Given the description of an element on the screen output the (x, y) to click on. 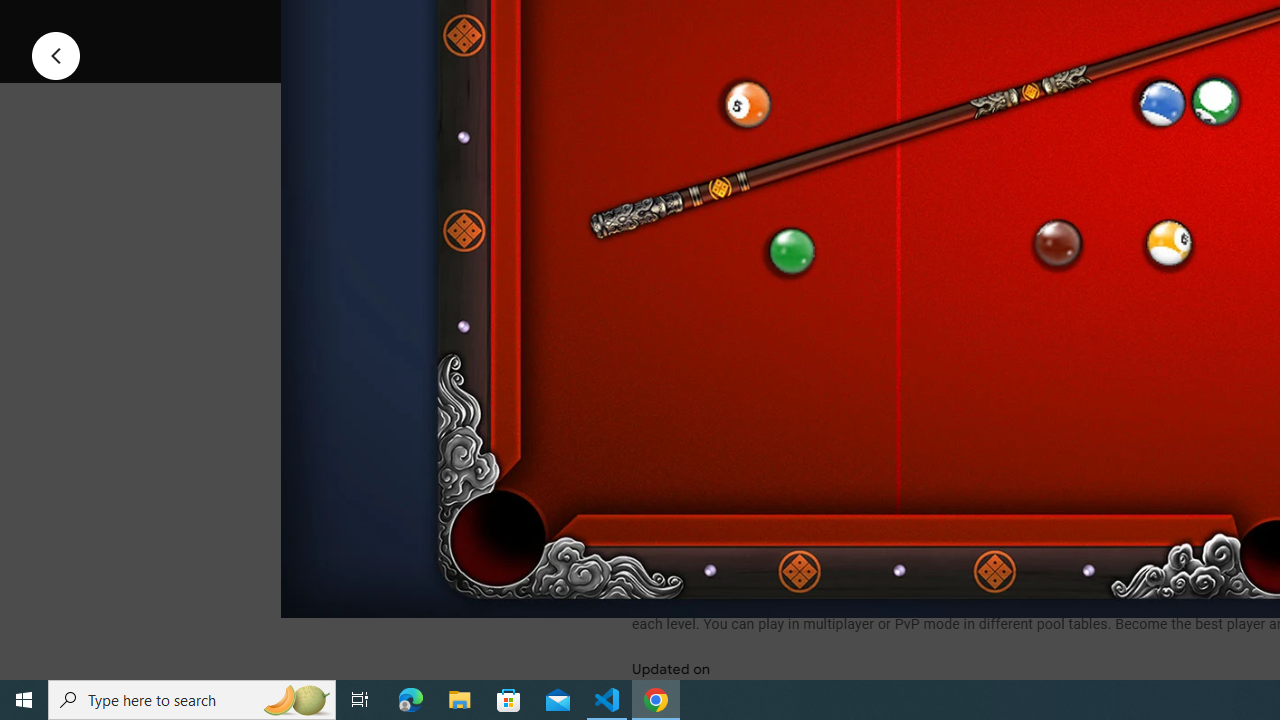
Add to wishlist (1014, 24)
Share (890, 24)
See more information on About this game (830, 477)
Previous (55, 54)
Screenshot image (895, 271)
Install (732, 24)
